Given the description of an element on the screen output the (x, y) to click on. 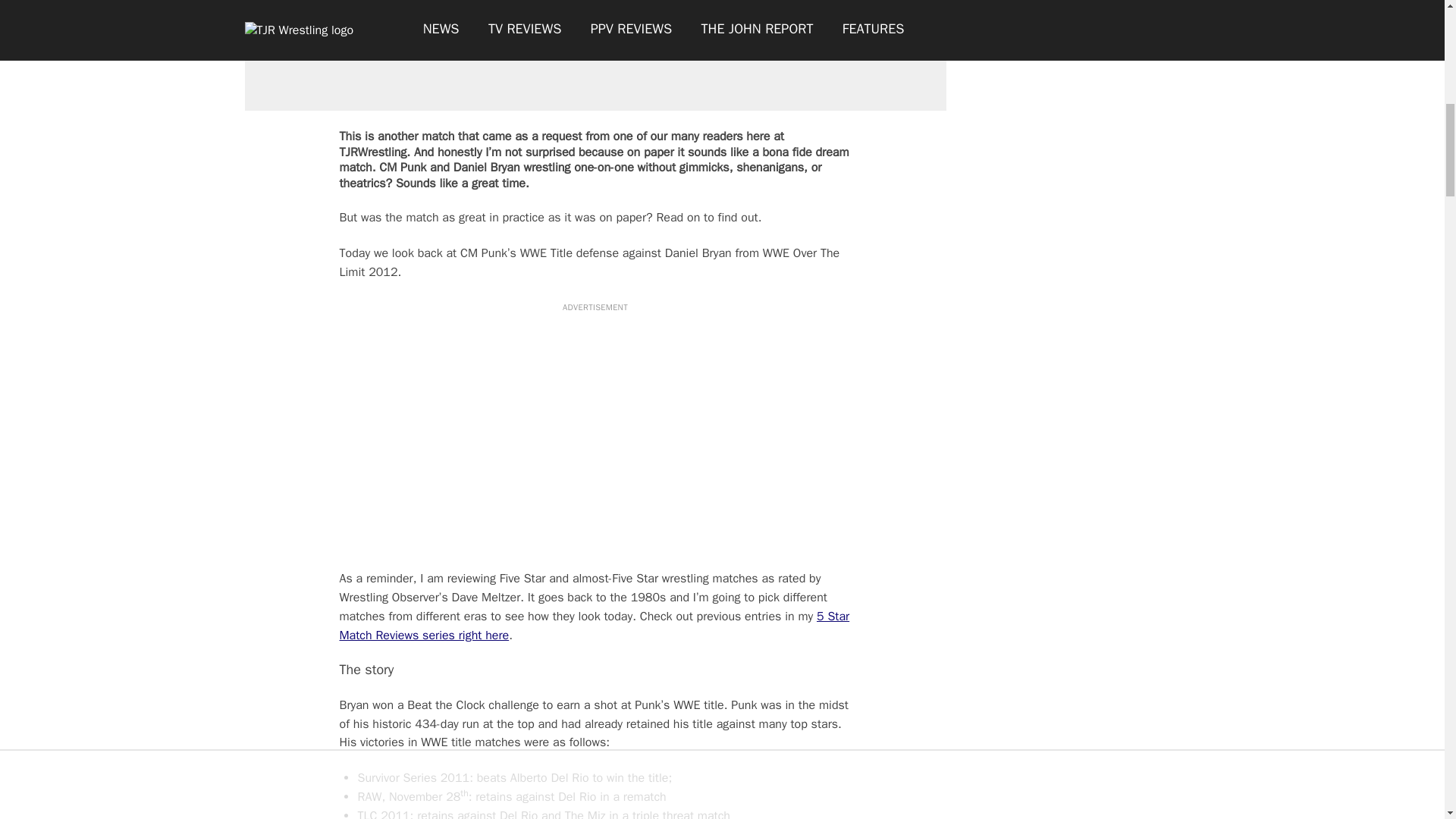
5 Star Match Reviews series right here (594, 625)
